Given the description of an element on the screen output the (x, y) to click on. 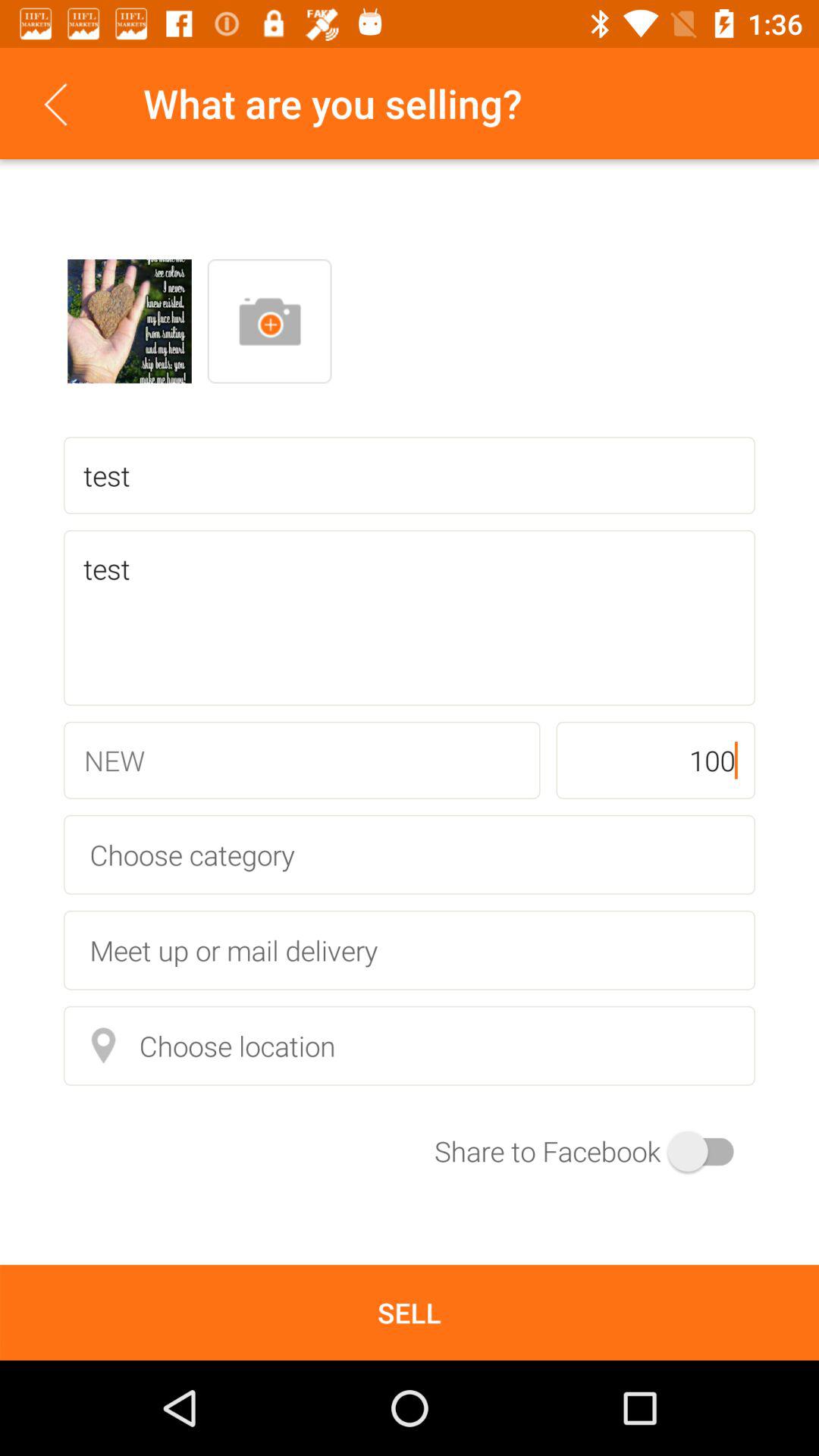
launch icon next to    new item (655, 760)
